Given the description of an element on the screen output the (x, y) to click on. 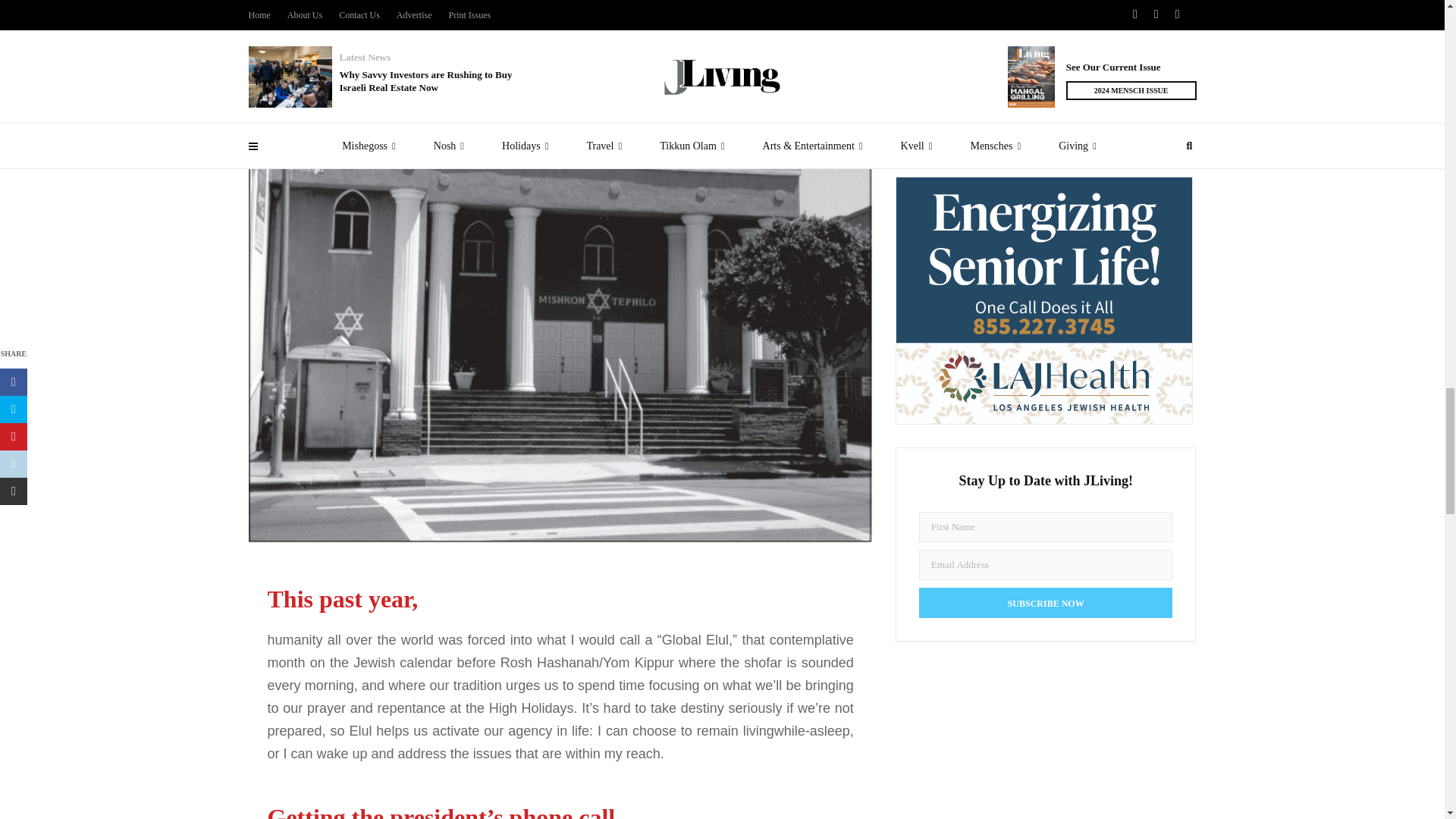
Subscribe Now (1046, 602)
